Given the description of an element on the screen output the (x, y) to click on. 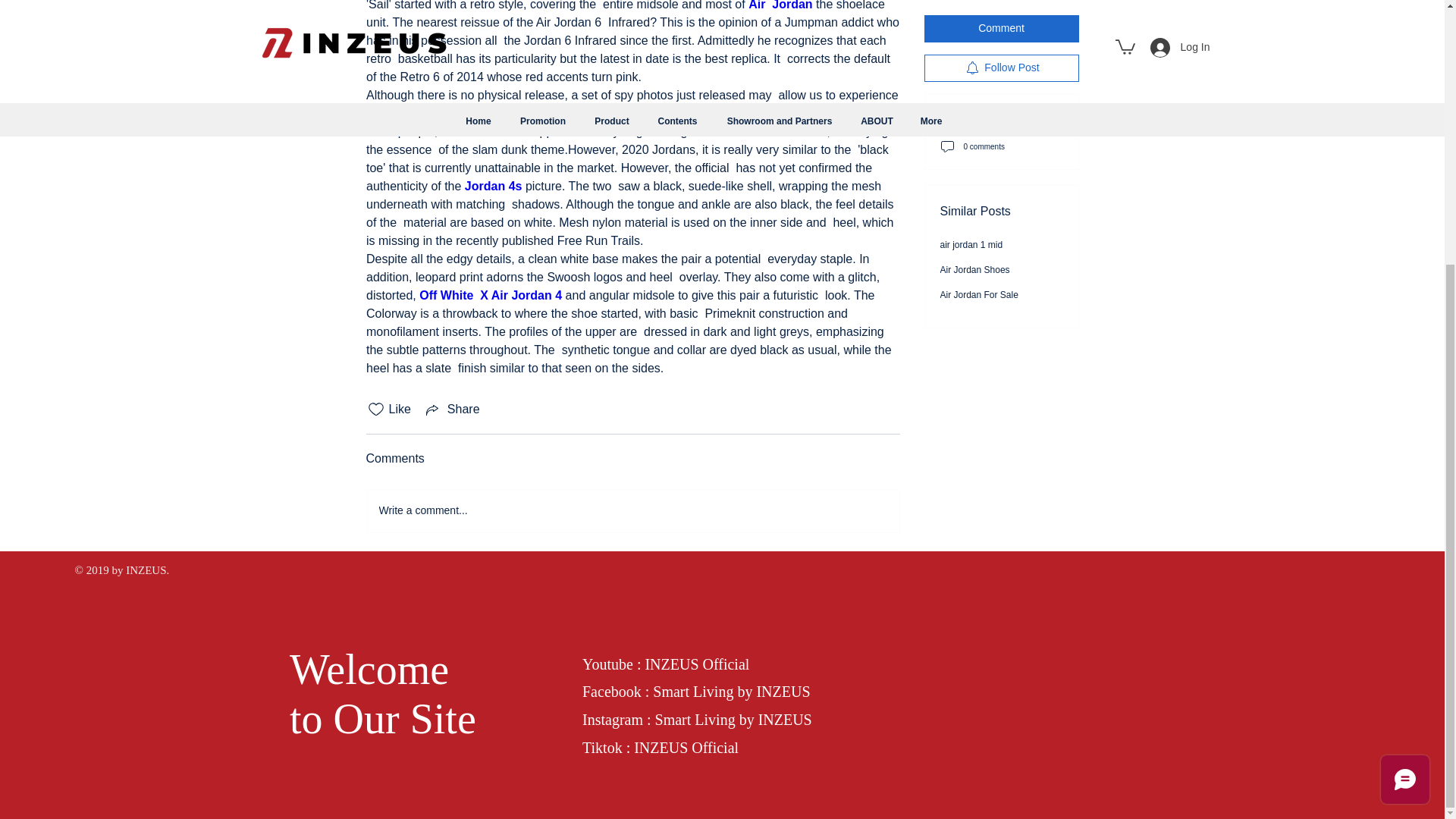
Write a comment... (632, 510)
Air  Jordan (780, 5)
Off White  X Air Jordan 4 (490, 295)
Jordan 4s (492, 185)
air jordan 1 mid (971, 54)
Air Jordan Shoes (975, 80)
Share (451, 409)
